Given the description of an element on the screen output the (x, y) to click on. 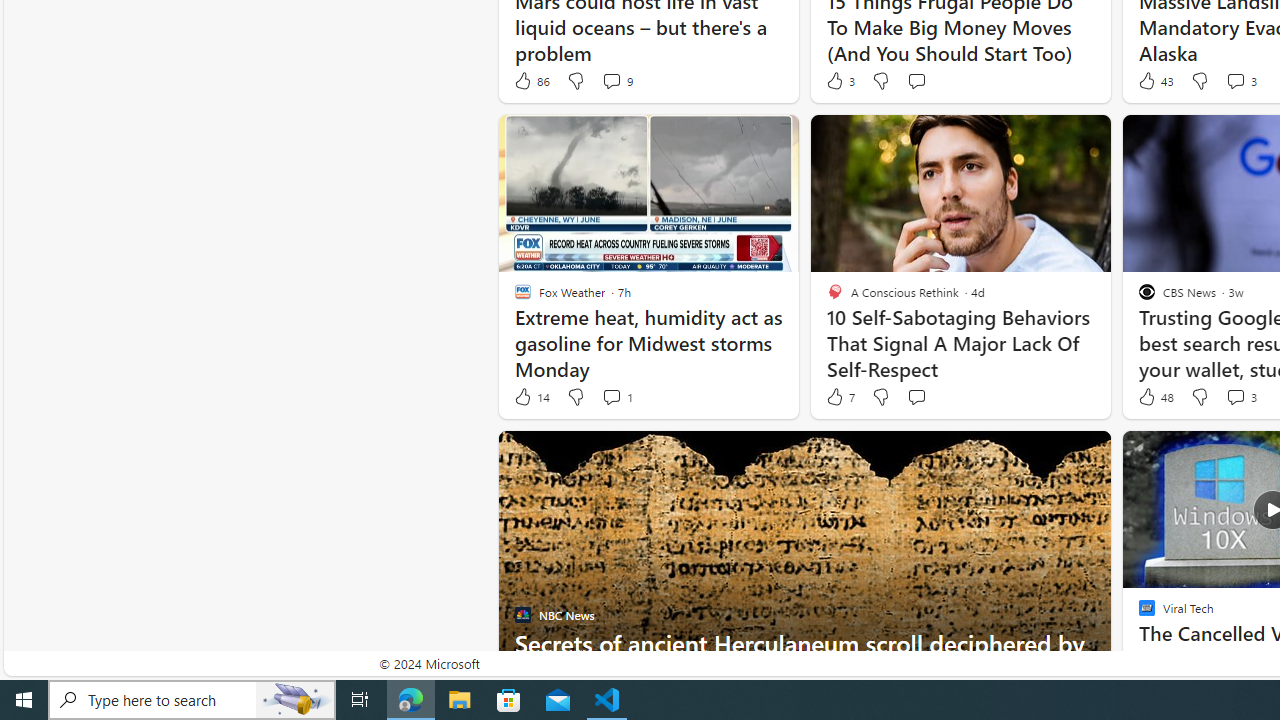
3 Like (839, 80)
14 Like (531, 397)
View comments 9 Comment (611, 80)
Hide this story (1050, 454)
7 Like (839, 397)
View comments 3 Comment (1240, 397)
43 Like (1154, 80)
View comments 9 Comment (616, 80)
48 Like (1154, 397)
